Given the description of an element on the screen output the (x, y) to click on. 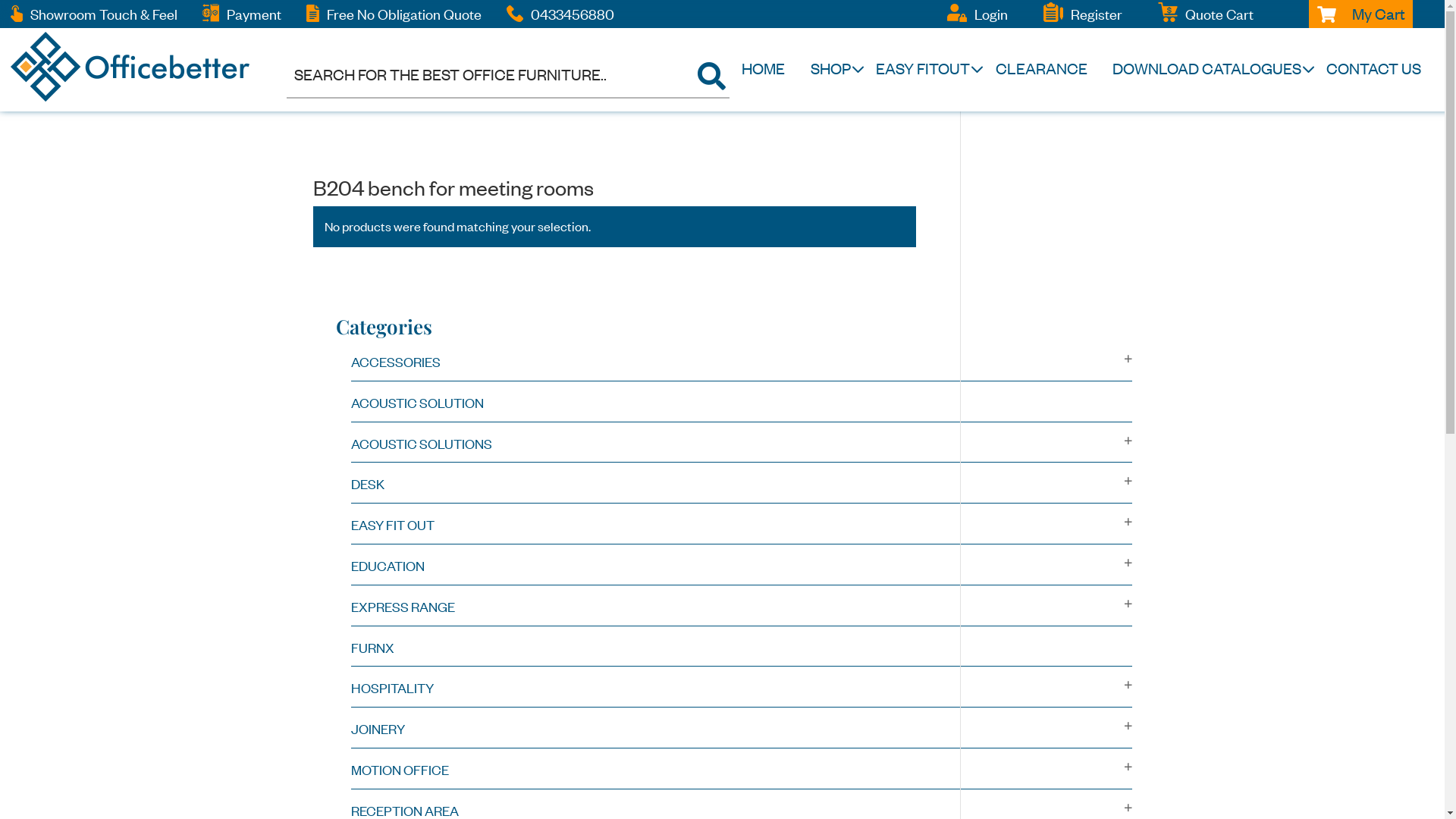
ACOUSTIC SOLUTIONS Element type: text (420, 443)
My Cart Element type: text (1360, 14)
HOME Element type: text (762, 68)
EXPRESS RANGE Element type: text (402, 606)
DESK Element type: text (366, 483)
JOINERY Element type: text (377, 728)
Login Element type: text (990, 13)
EASY FITOUT Element type: text (922, 68)
0433456880 Element type: text (572, 13)
MOTION OFFICE Element type: text (399, 769)
EASY FIT OUT Element type: text (391, 524)
SHOP Element type: text (830, 68)
Quote Cart Element type: text (1219, 13)
CLEARANCE Element type: text (1041, 68)
HOSPITALITY Element type: text (391, 687)
DOWNLOAD CATALOGUES Element type: text (1206, 68)
CONTACT US Element type: text (1373, 68)
Free No Obligation Quote Element type: text (403, 13)
EDUCATION Element type: text (386, 565)
Payment Element type: text (253, 13)
Home Element type: text (327, 165)
ACOUSTIC SOLUTION Element type: text (416, 402)
FURNX Element type: text (371, 647)
Register Element type: text (1096, 13)
ACCESSORIES Element type: text (394, 361)
